Given the description of an element on the screen output the (x, y) to click on. 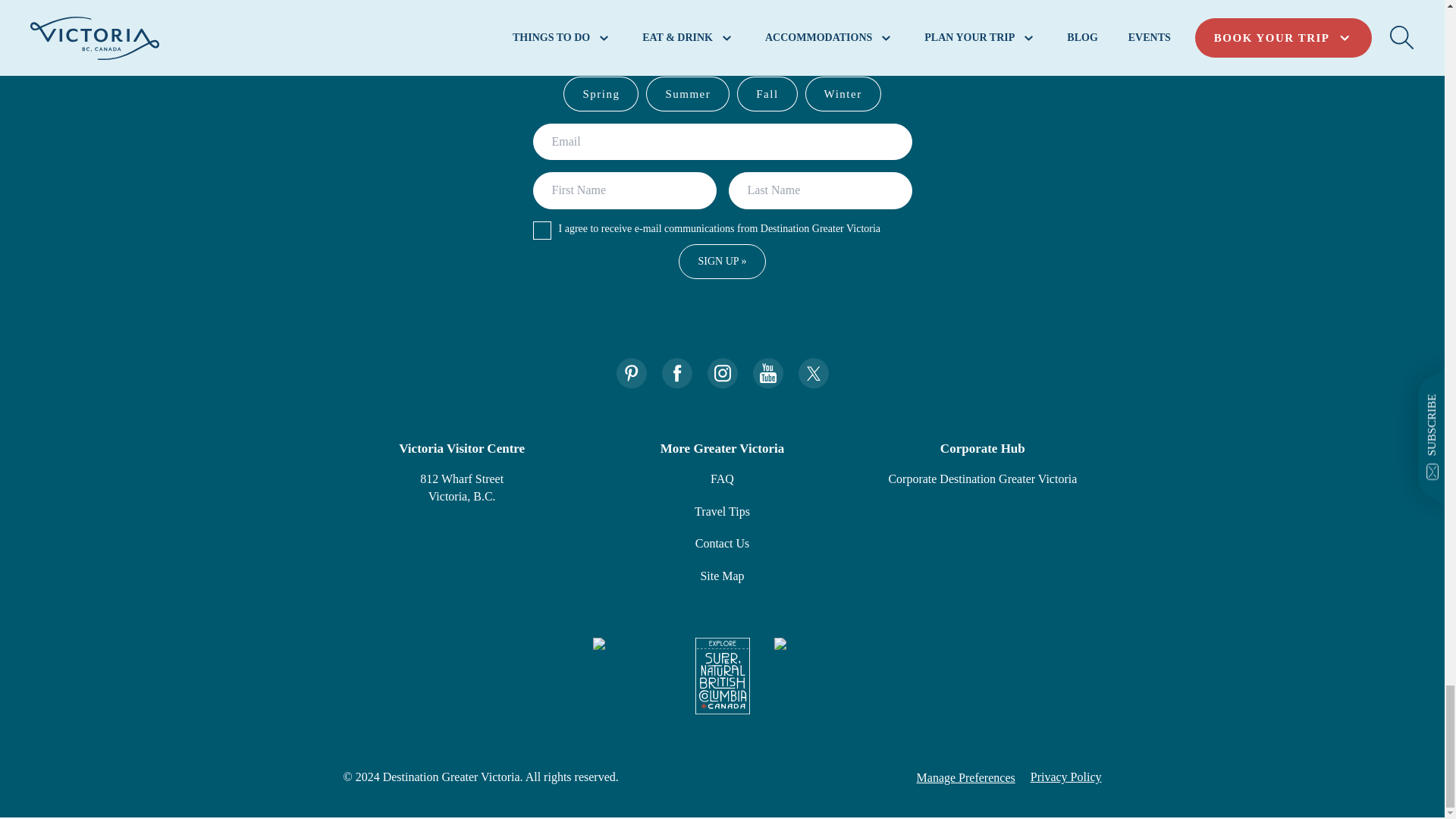
FAQ (721, 478)
Instagram (721, 373)
true (541, 230)
Pinterest (630, 373)
Site Map (722, 575)
YouTube (767, 373)
Contact Us (722, 543)
Facebook (676, 373)
Travel Tips (721, 511)
X (812, 373)
